Given the description of an element on the screen output the (x, y) to click on. 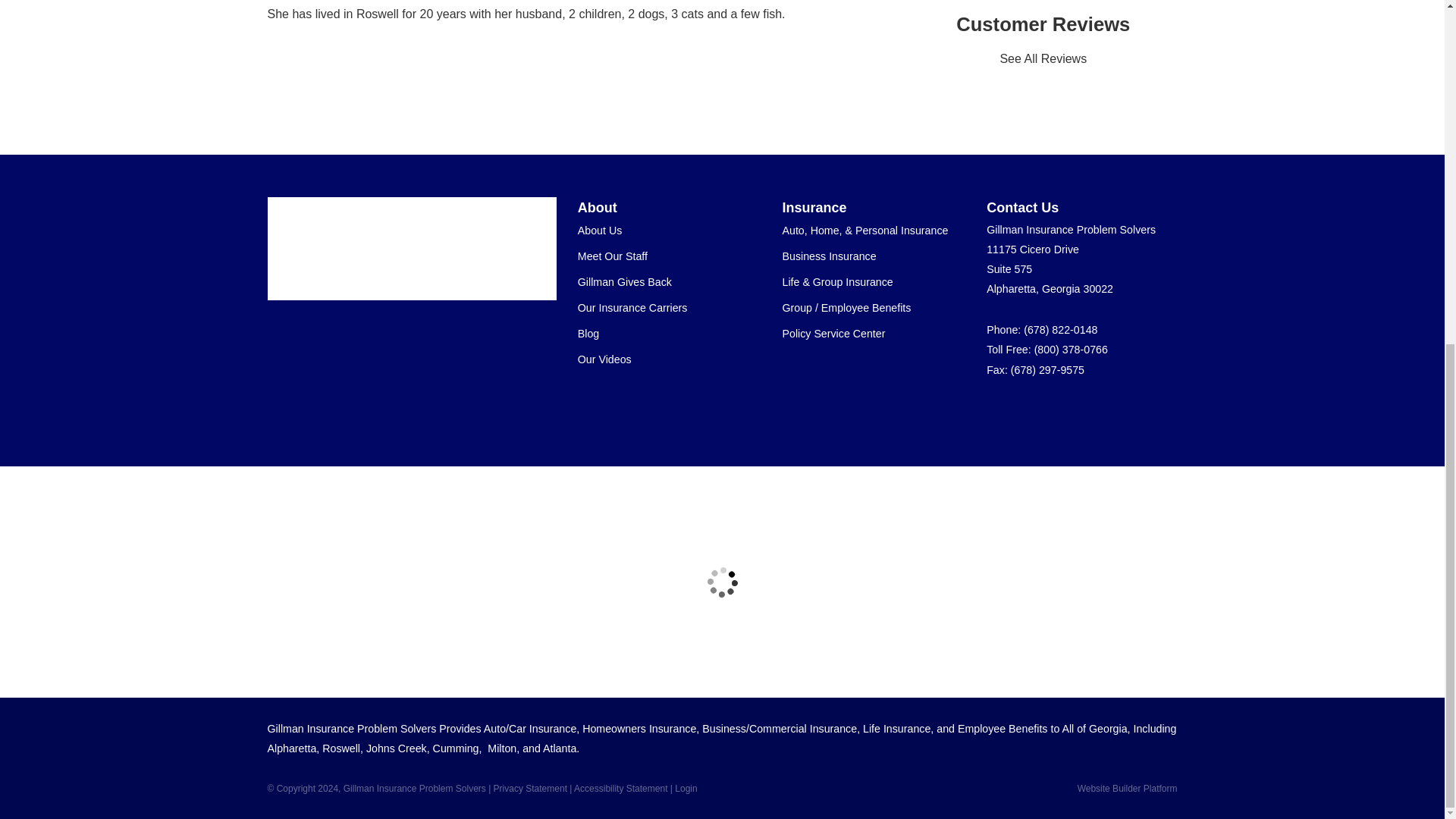
Instagram (1158, 412)
Google Maps (997, 412)
Facebook (1051, 412)
Yelp (1024, 412)
YouTube (1131, 412)
Gillman Insurance Problem Solvers, Alpharetta (401, 248)
X (1078, 412)
LinkedIn (1104, 412)
